Given the description of an element on the screen output the (x, y) to click on. 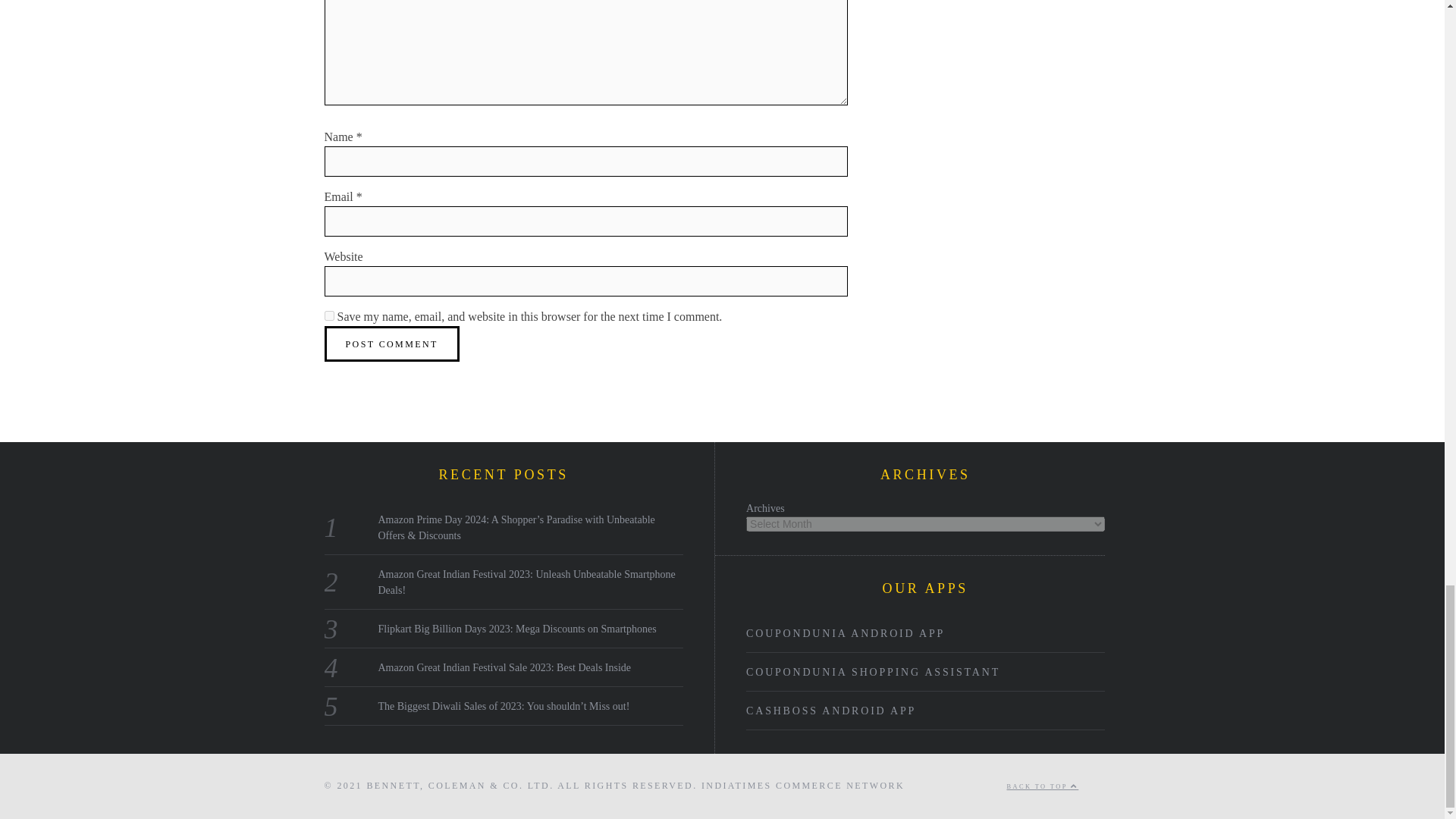
yes (329, 316)
Post Comment (392, 343)
